Given the description of an element on the screen output the (x, y) to click on. 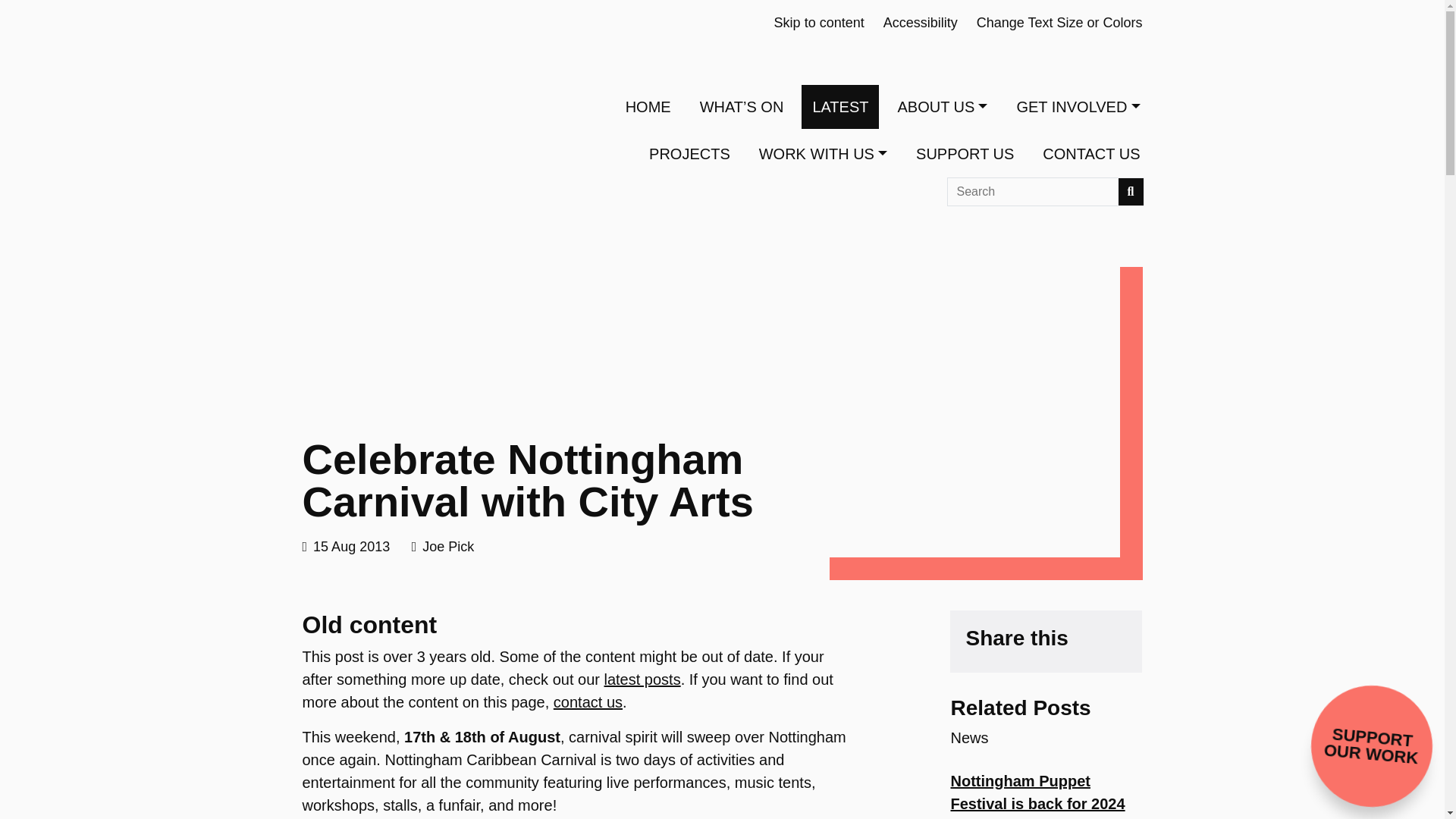
SUPPORT US (965, 153)
CONTACT US (1091, 153)
Search (1131, 191)
LATEST (840, 106)
Skip to content (819, 22)
HOME (647, 106)
contact us (588, 701)
Accessibility (920, 22)
Change Text Size or Colors (1059, 22)
ABOUT US (941, 106)
